Given the description of an element on the screen output the (x, y) to click on. 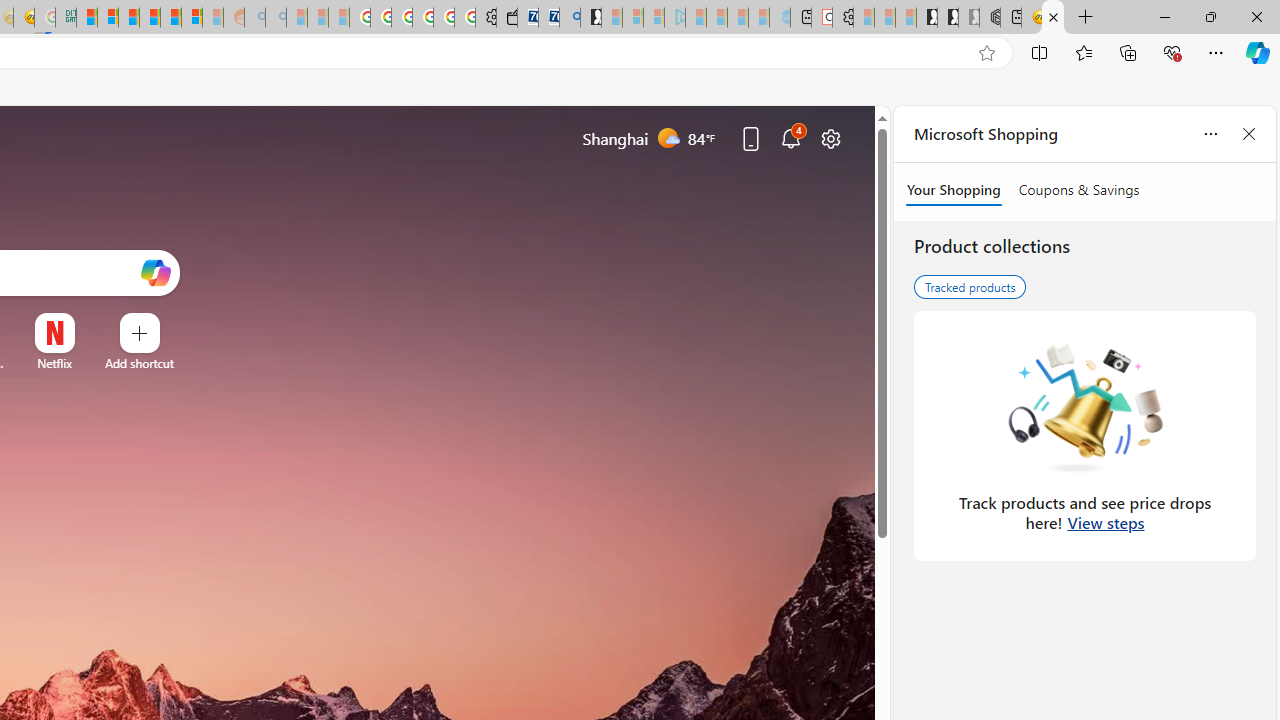
Page settings (831, 138)
Netflix (54, 363)
